Given the description of an element on the screen output the (x, y) to click on. 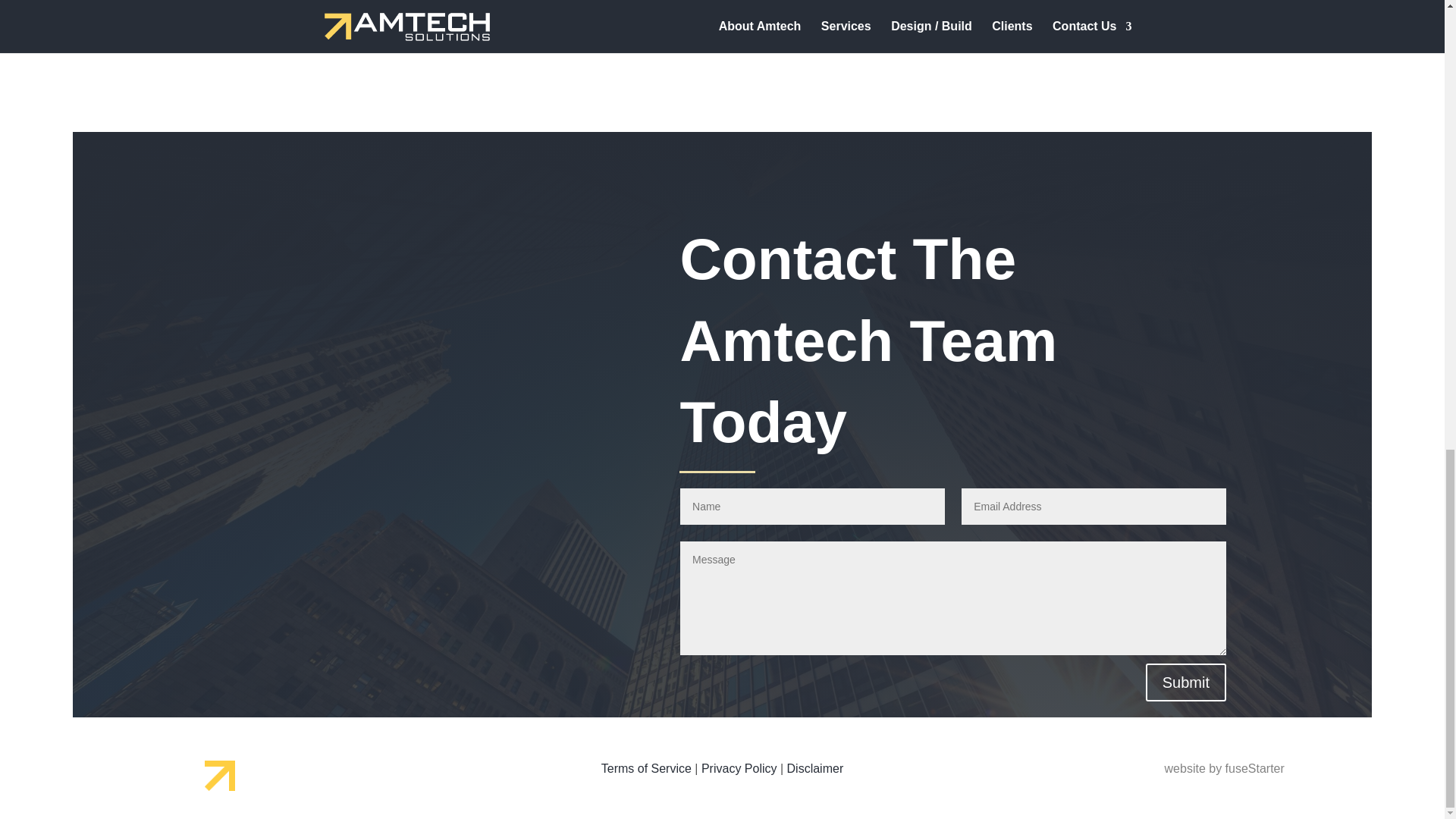
amtech-arrow (219, 775)
Privacy Policy (739, 768)
Disclaimer (815, 768)
Terms of Service (646, 768)
Submit (1185, 682)
